Given the description of an element on the screen output the (x, y) to click on. 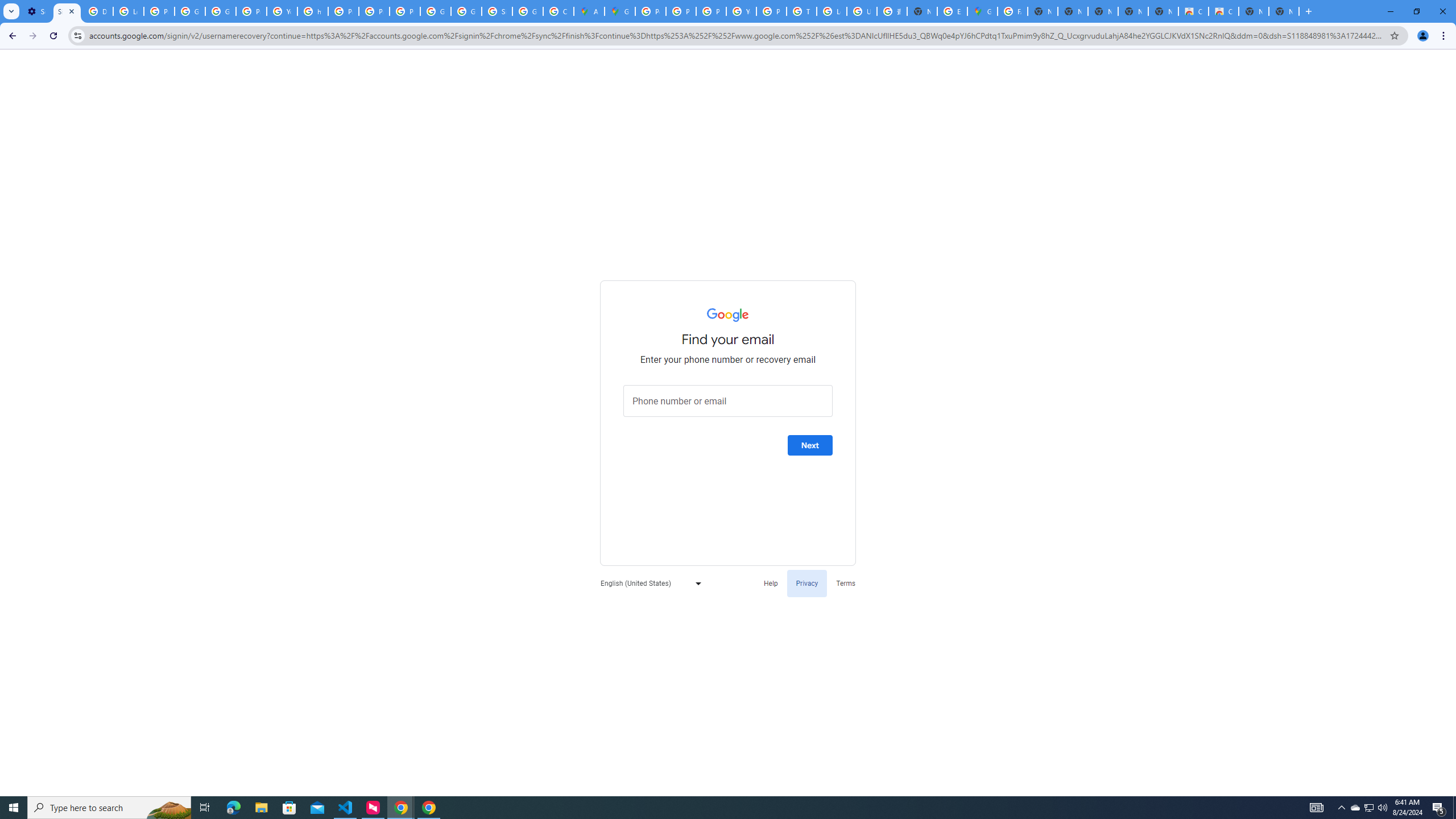
Privacy Help Center - Policies Help (710, 11)
Explore new street-level details - Google Maps Help (951, 11)
YouTube (740, 11)
Restore (1416, 11)
View site information (77, 35)
Help (770, 583)
Phone number or email (727, 400)
Sign in - Google Accounts (66, 11)
Bookmark this tab (1393, 35)
